Given the description of an element on the screen output the (x, y) to click on. 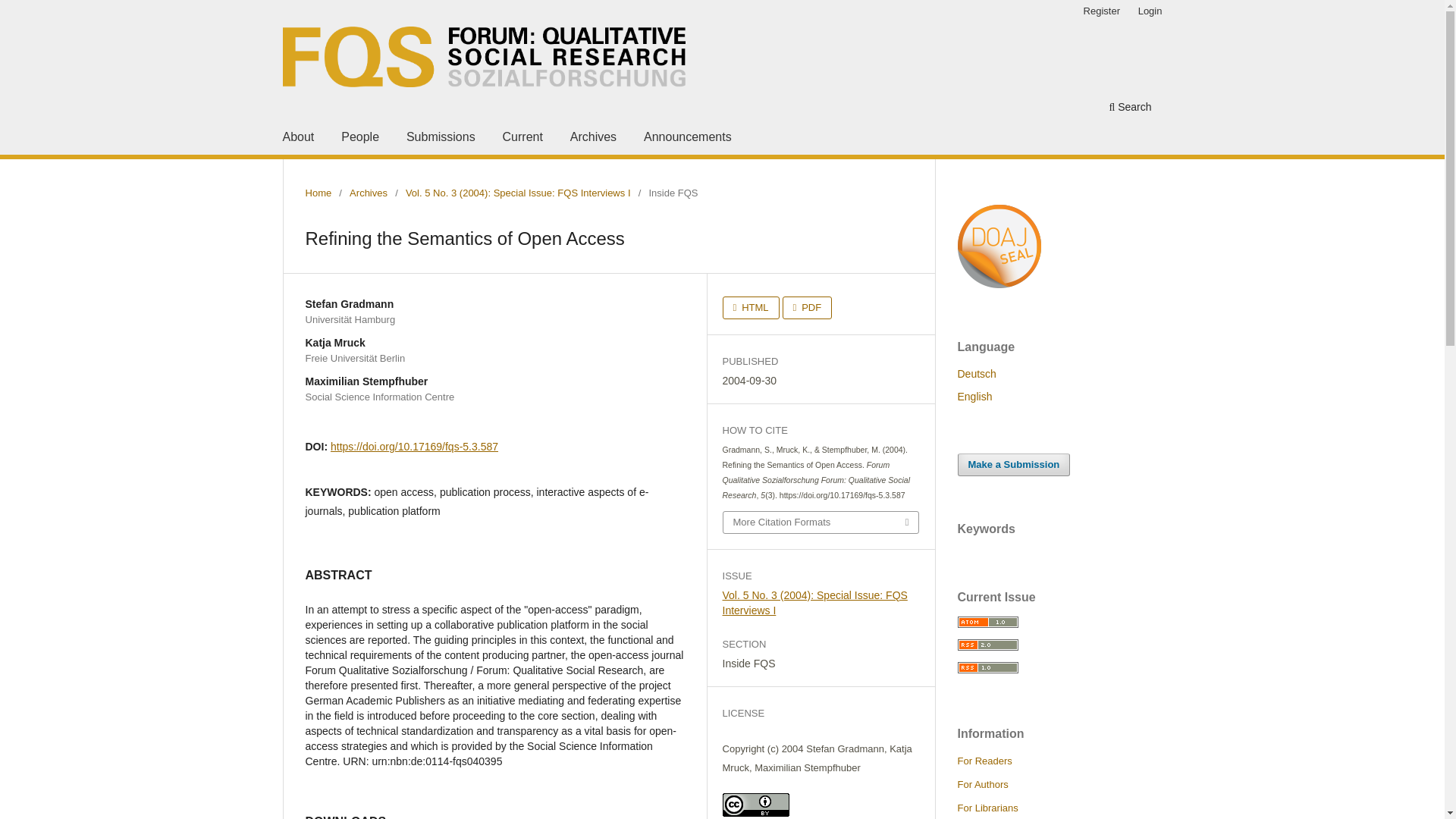
Search (1129, 108)
About (298, 139)
HTML (750, 307)
Current (522, 139)
Home (317, 192)
Register (1100, 11)
More Citation Formats (820, 522)
Announcements (687, 139)
Submissions (440, 139)
PDF (807, 307)
